Given the description of an element on the screen output the (x, y) to click on. 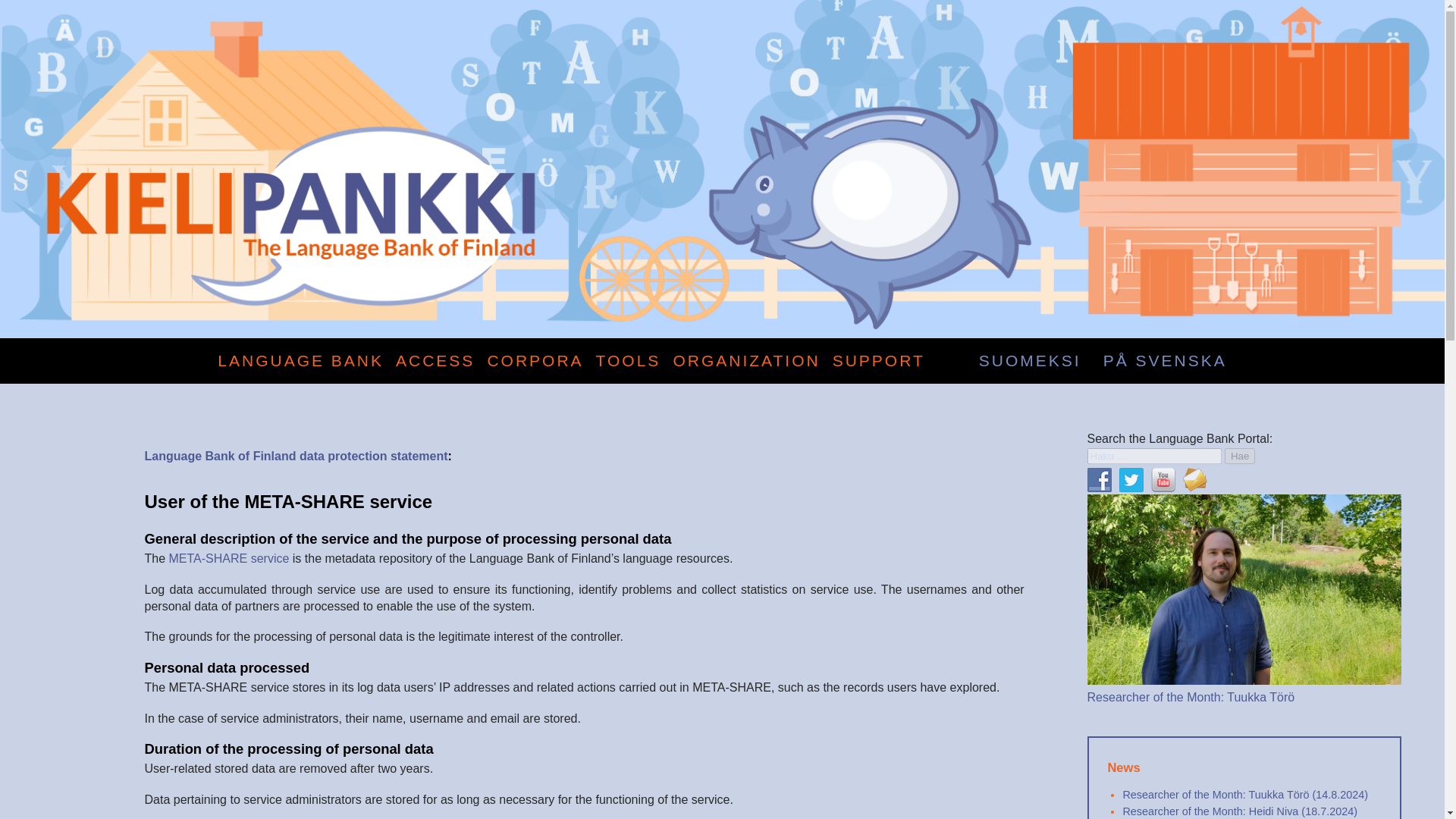
ORGANIZATION (745, 360)
Hae (1239, 455)
SUPPORT (878, 360)
Language Bank of Finland data protection statement (295, 455)
TOOLS (628, 360)
Kielipankki YouTube channel (1162, 479)
CORPORA (534, 360)
Hae (1239, 455)
META-SHARE service (228, 558)
SUOMEKSI (1029, 360)
